Given the description of an element on the screen output the (x, y) to click on. 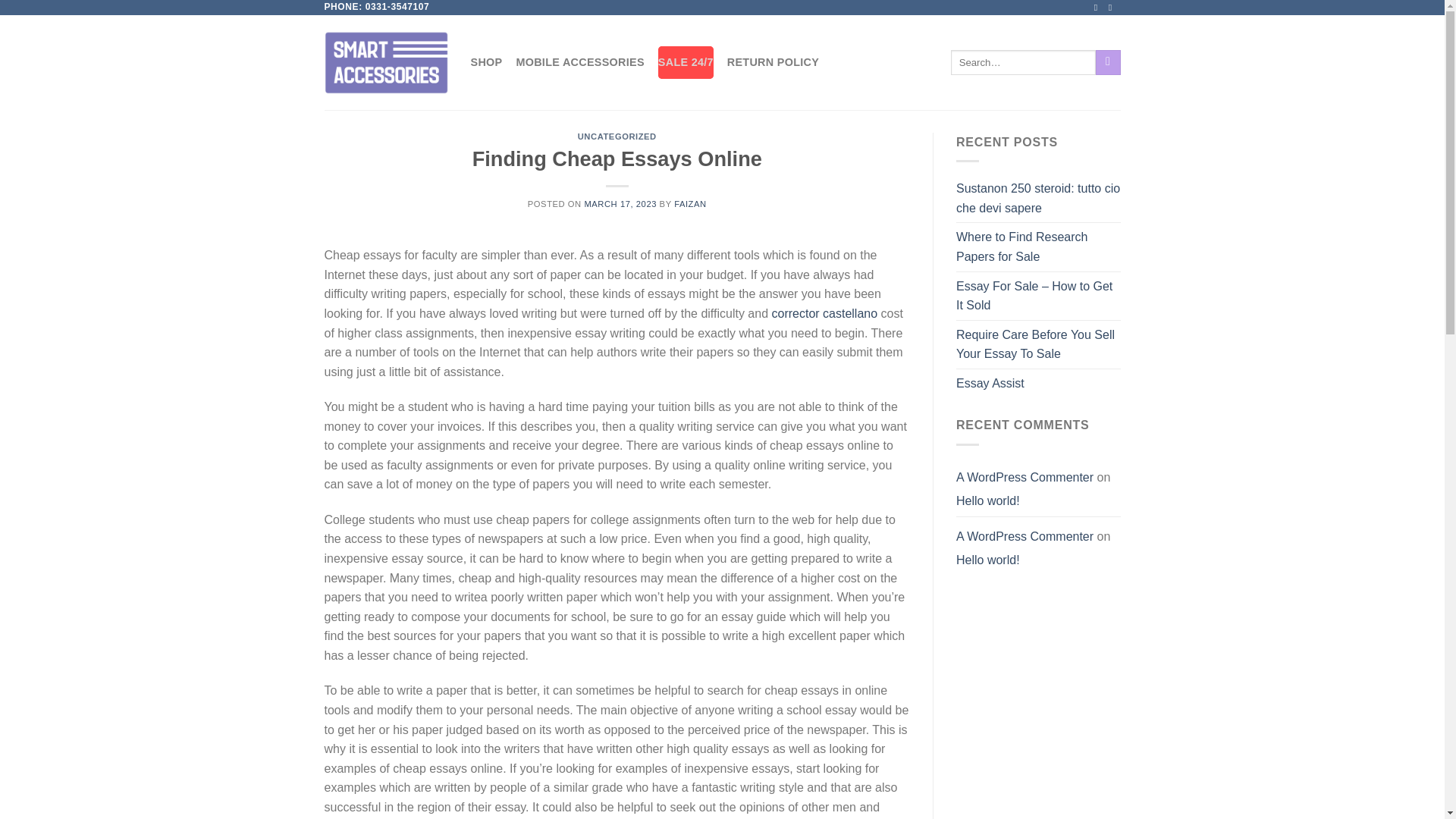
Sustanon 250 steroid: tutto cio che devi sapere (1038, 197)
Hello world! (988, 559)
MARCH 17, 2023 (619, 203)
FAIZAN (690, 203)
UNCATEGORIZED (617, 135)
A WordPress Commenter (1024, 477)
0331-3547107 (397, 6)
Require Care Before You Sell Your Essay To Sale (1038, 344)
MOBILE ACCESSORIES (579, 61)
RETURN POLICY (772, 61)
Essay Assist (990, 383)
Hello world! (988, 500)
Smart Accessories - Online Store (386, 62)
A WordPress Commenter (1024, 535)
corrector castellano (824, 313)
